Given the description of an element on the screen output the (x, y) to click on. 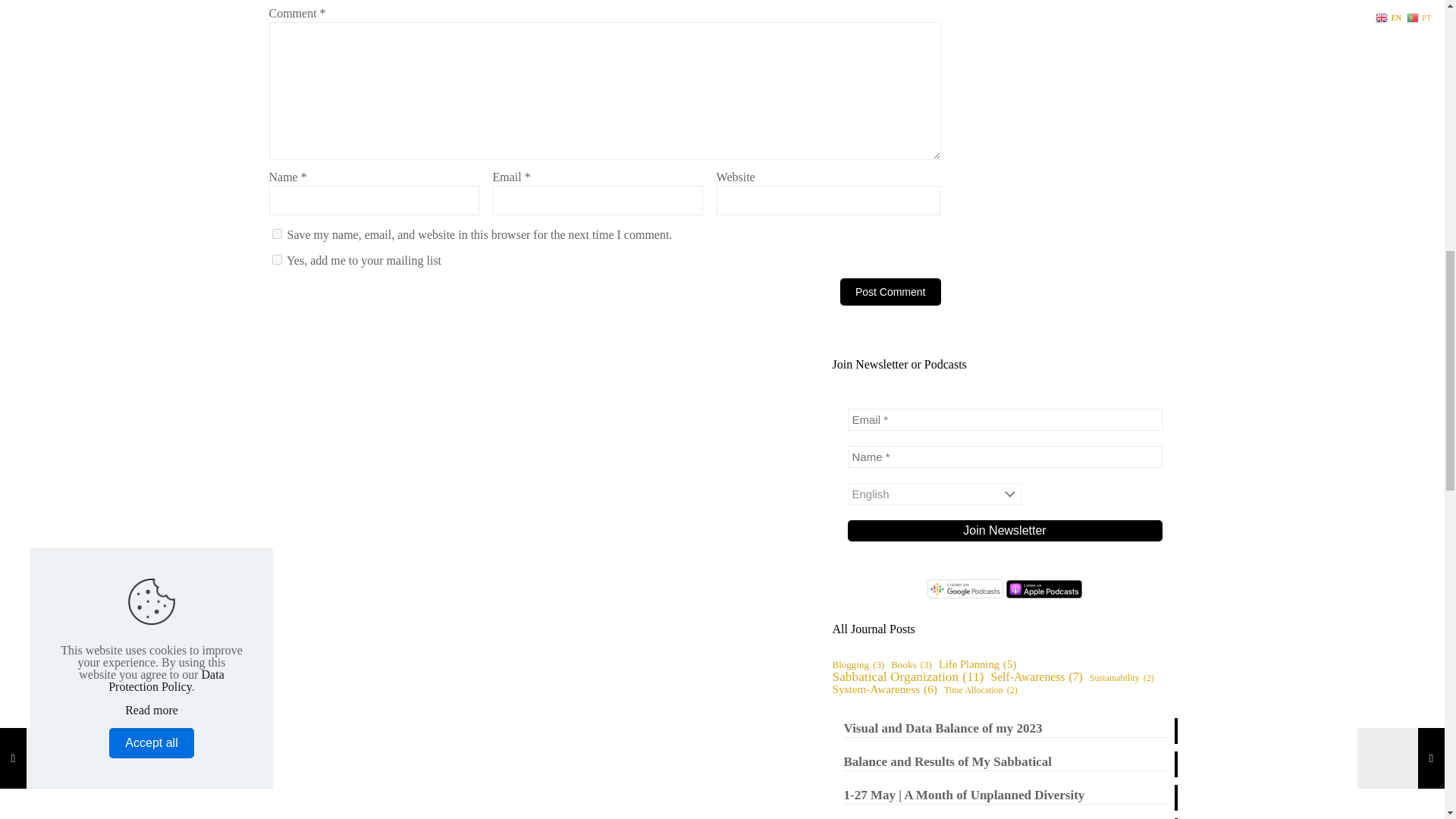
Join Newsletter (1004, 530)
1 (275, 259)
Name (1004, 456)
Email (1004, 419)
yes (275, 234)
Post Comment (890, 291)
